Given the description of an element on the screen output the (x, y) to click on. 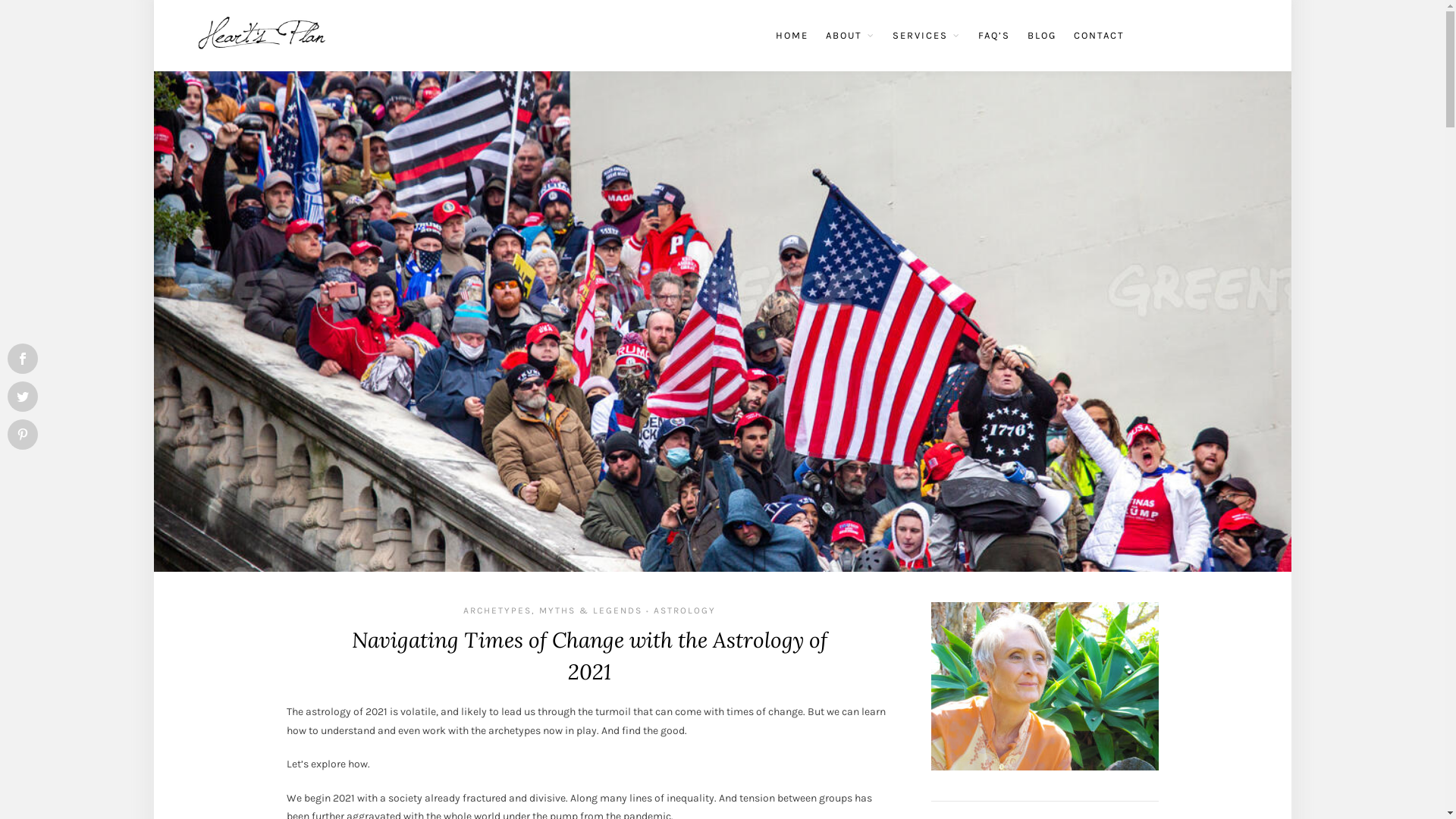
SERVICES Element type: text (925, 35)
BLOG Element type: text (1040, 35)
CONTACT Element type: text (1098, 35)
ASTROLOGY Element type: text (684, 610)
HOME Element type: text (791, 35)
ARCHETYPES, MYTHS & LEGENDS Element type: text (552, 610)
ABOUT Element type: text (849, 35)
